Given the description of an element on the screen output the (x, y) to click on. 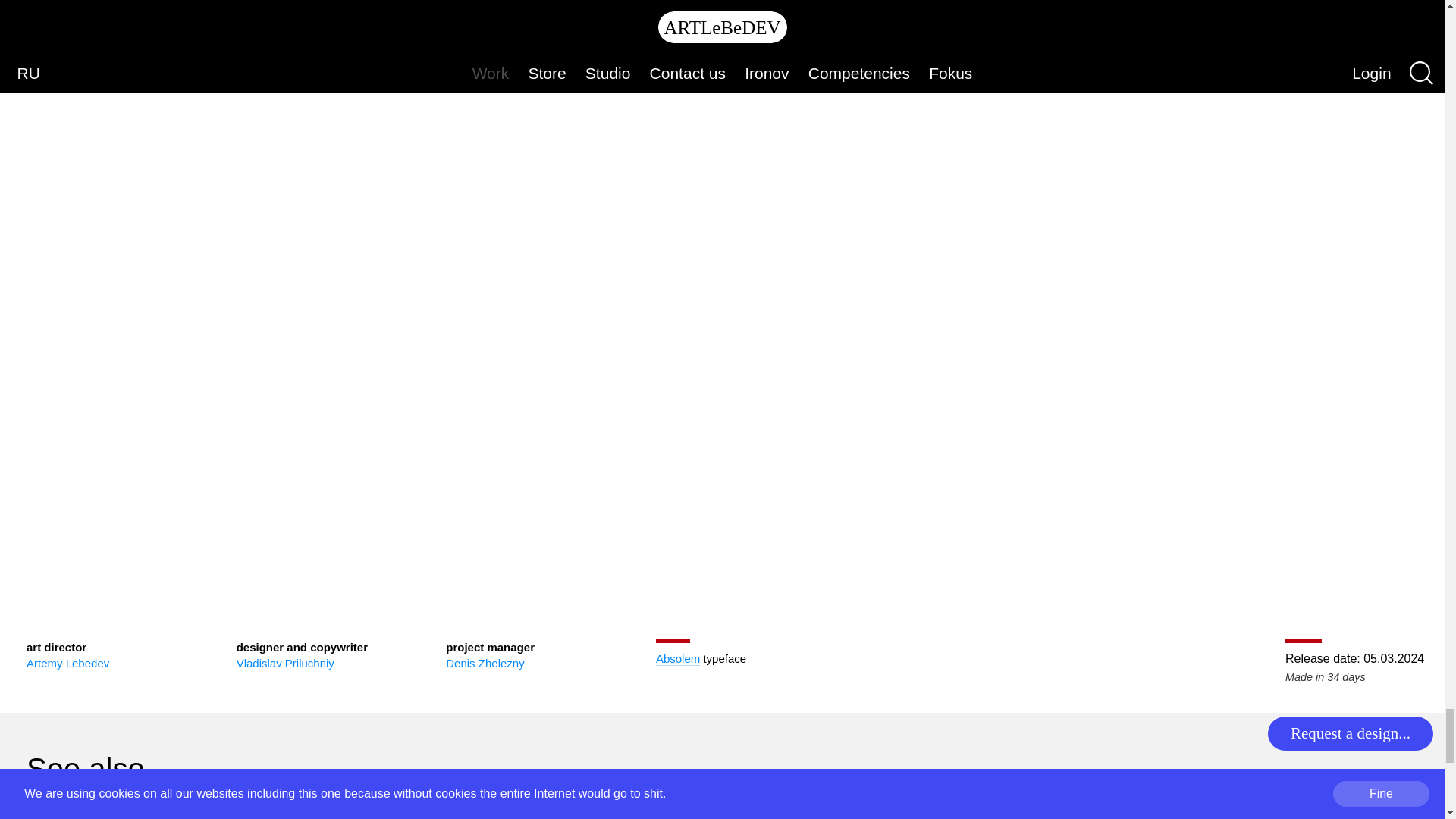
Denis Zhelezny (484, 663)
Express design (679, 814)
Naming (53, 814)
Vladislav Priluchniy (284, 663)
Fashion (353, 814)
Identities (956, 814)
Absolem (678, 658)
Graphic design (1277, 814)
Artemy Lebedev (67, 663)
